Given the description of an element on the screen output the (x, y) to click on. 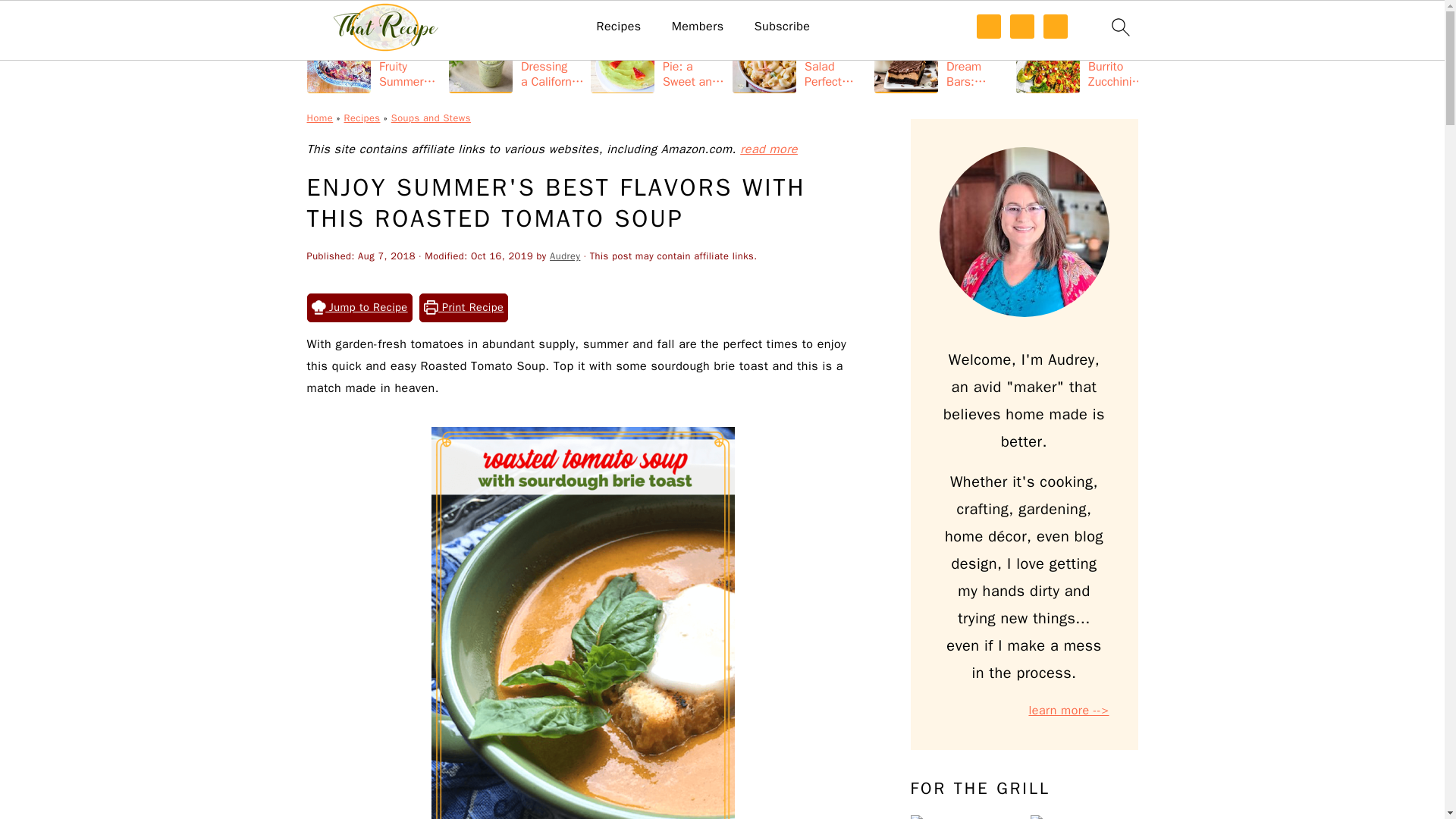
Members (697, 26)
search icon (1119, 26)
Subscribe (782, 26)
Recipes (619, 26)
